Given the description of an element on the screen output the (x, y) to click on. 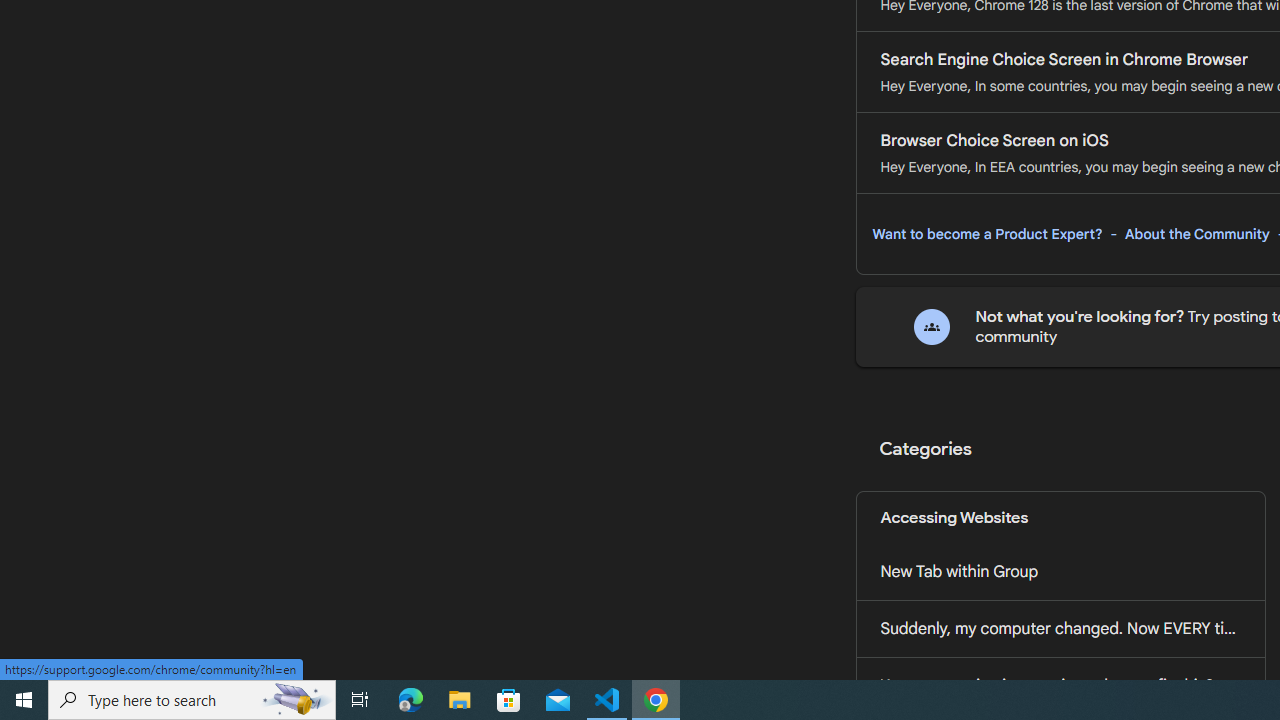
Want to become a Product Expert? (987, 233)
About the Community (1197, 233)
